Given the description of an element on the screen output the (x, y) to click on. 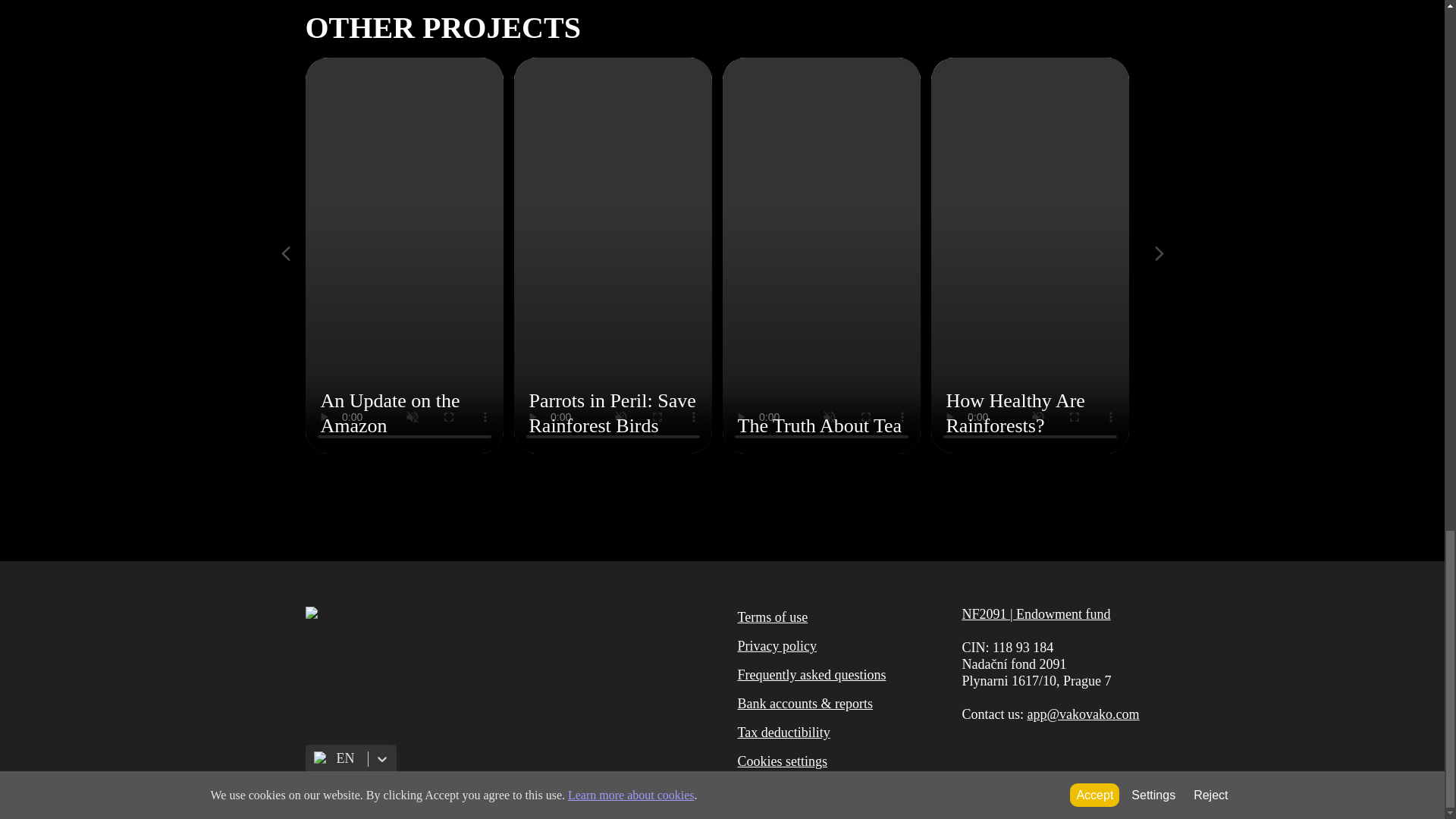
Parrots in Peril: Save Rainforest Birds (612, 255)
An Update on the Amazon (403, 255)
The Truth About Tea (821, 255)
Can We Save Orangutans? (1237, 255)
How Healthy Are Rainforests? (1030, 255)
